Given the description of an element on the screen output the (x, y) to click on. 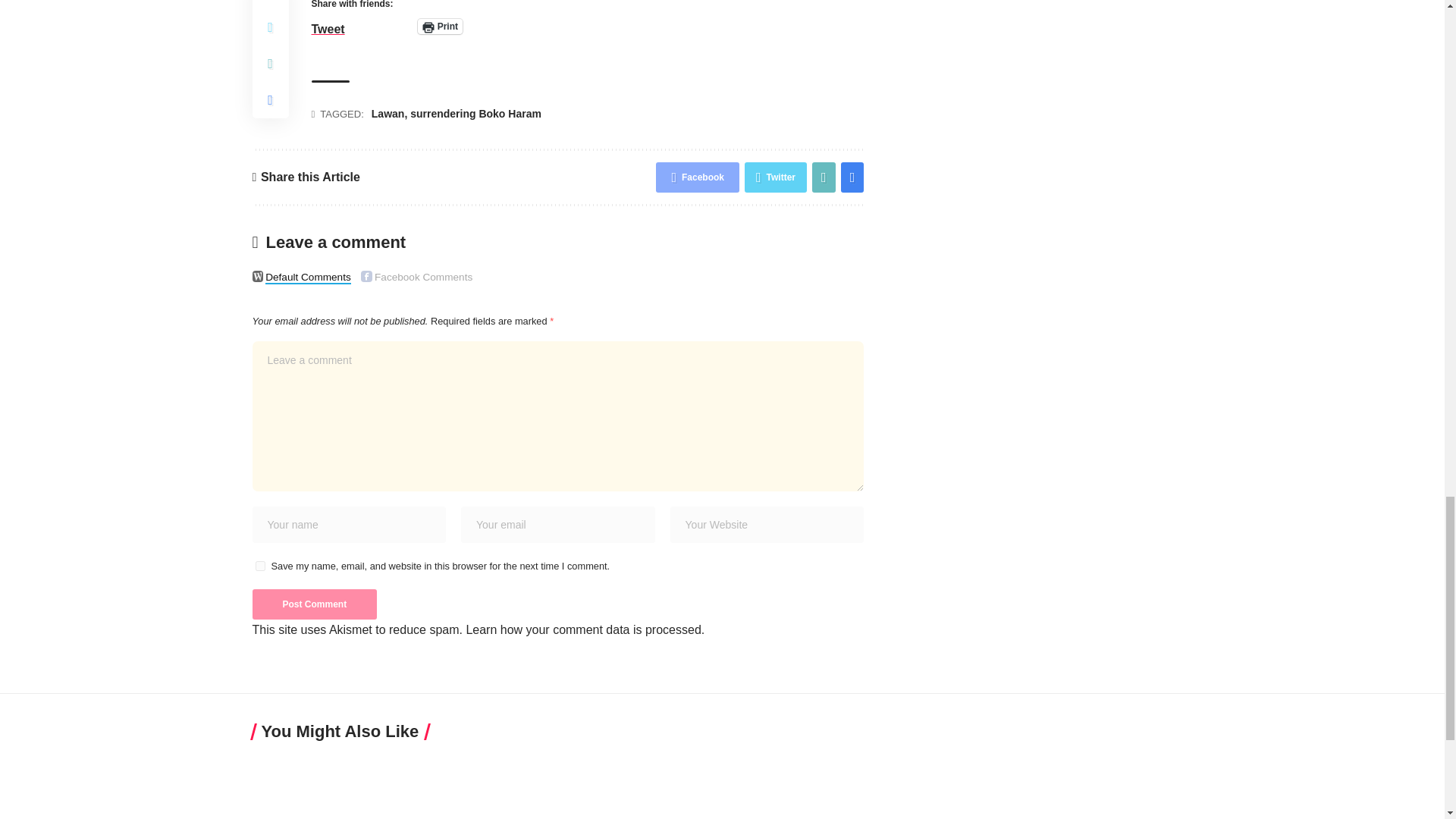
Post Comment (314, 603)
Oba of Benin Honors Rema with Royal Medal (841, 787)
yes (259, 565)
Facebook Comments (366, 276)
Default Comments (257, 276)
Click to print (440, 26)
